Given the description of an element on the screen output the (x, y) to click on. 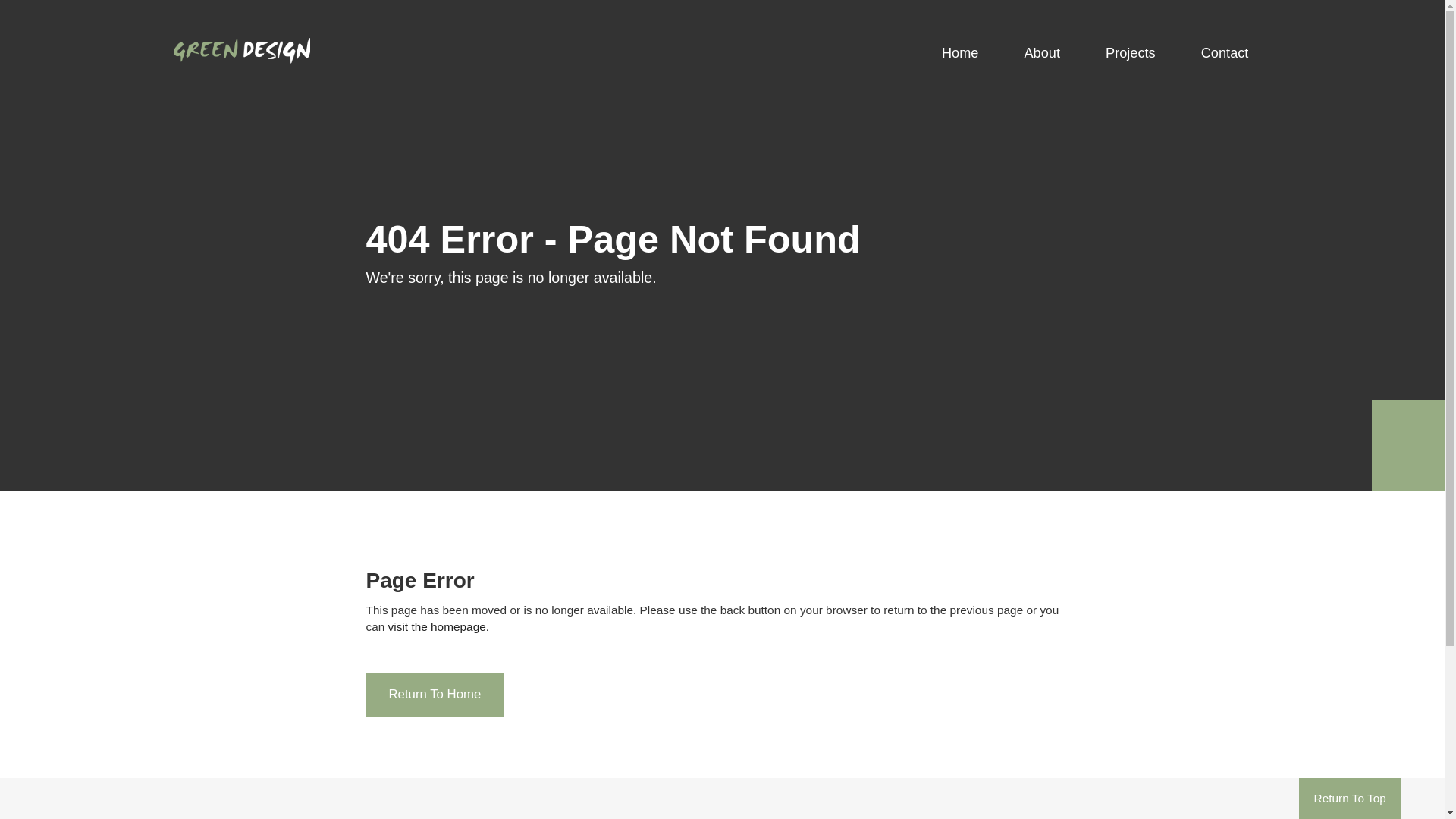
Home Element type: text (960, 52)
About Element type: text (1041, 52)
Projects Element type: text (1130, 52)
Return To Home Element type: text (434, 694)
visit the homepage. Element type: text (438, 626)
Contact Element type: text (1224, 52)
